Given the description of an element on the screen output the (x, y) to click on. 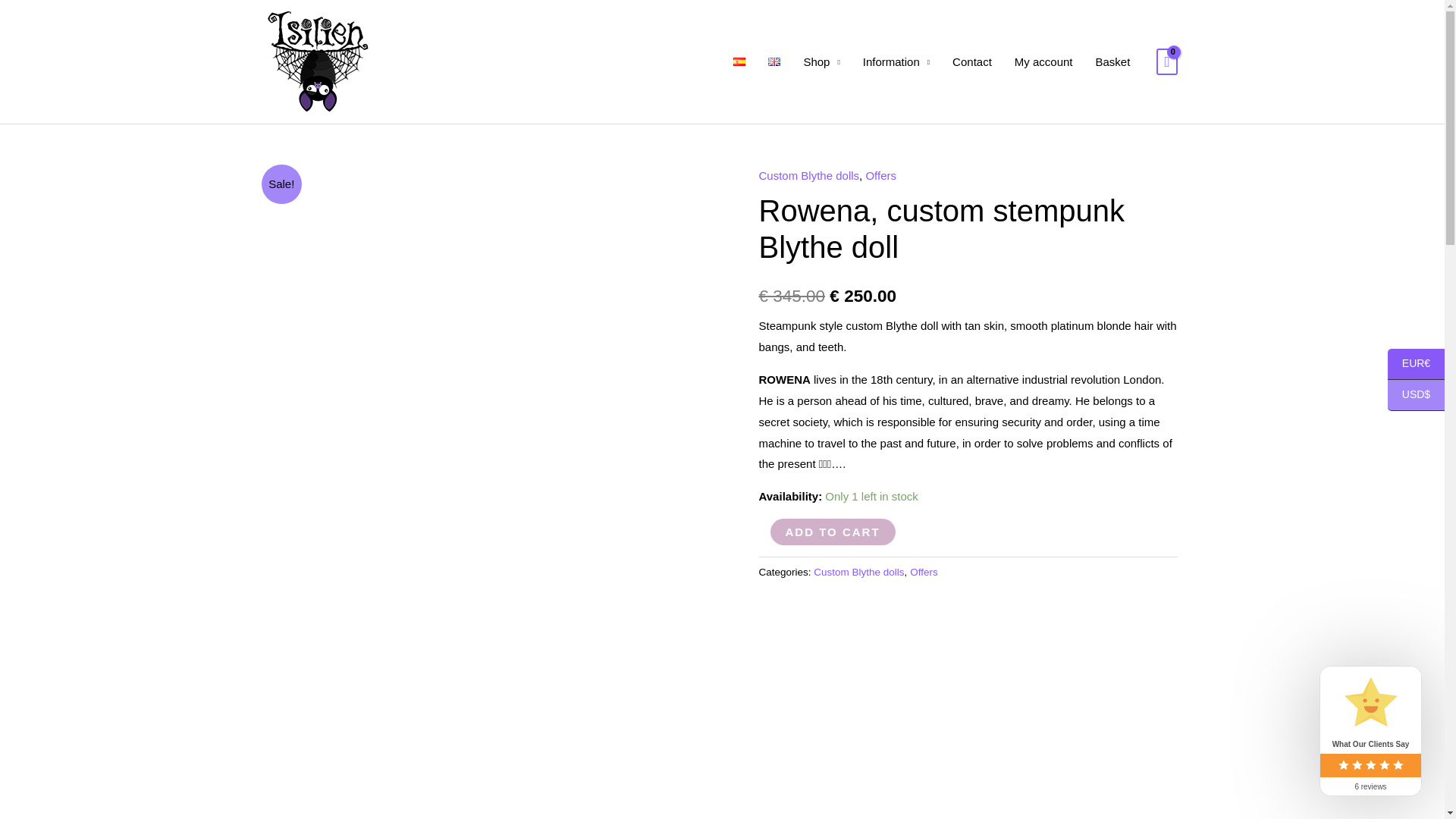
Basket (1112, 61)
Shop (821, 61)
Information (895, 61)
My account (1043, 61)
Contact (971, 61)
